Given the description of an element on the screen output the (x, y) to click on. 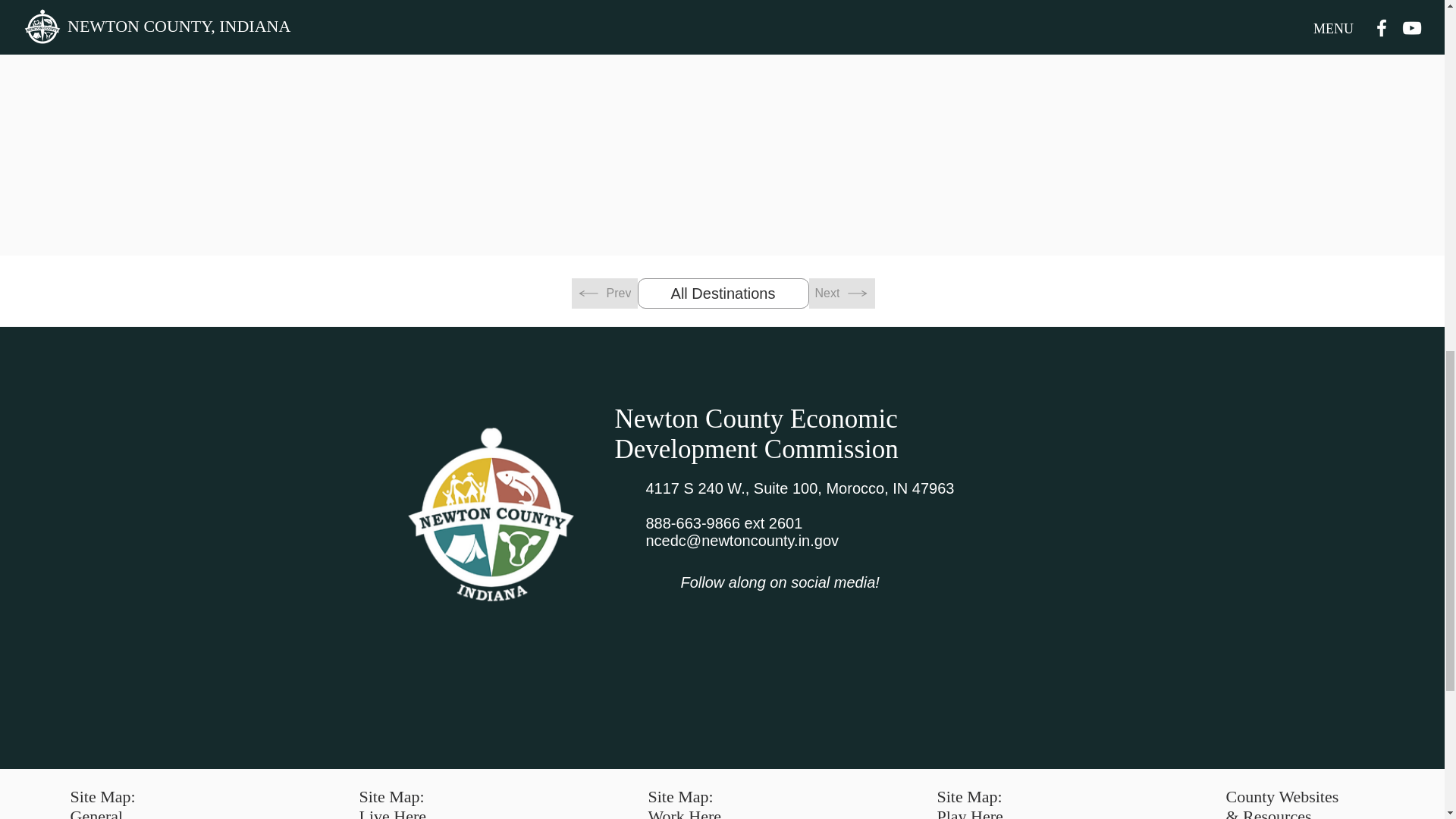
Prev (604, 293)
All Destinations (722, 293)
Next (841, 293)
